Given the description of an element on the screen output the (x, y) to click on. 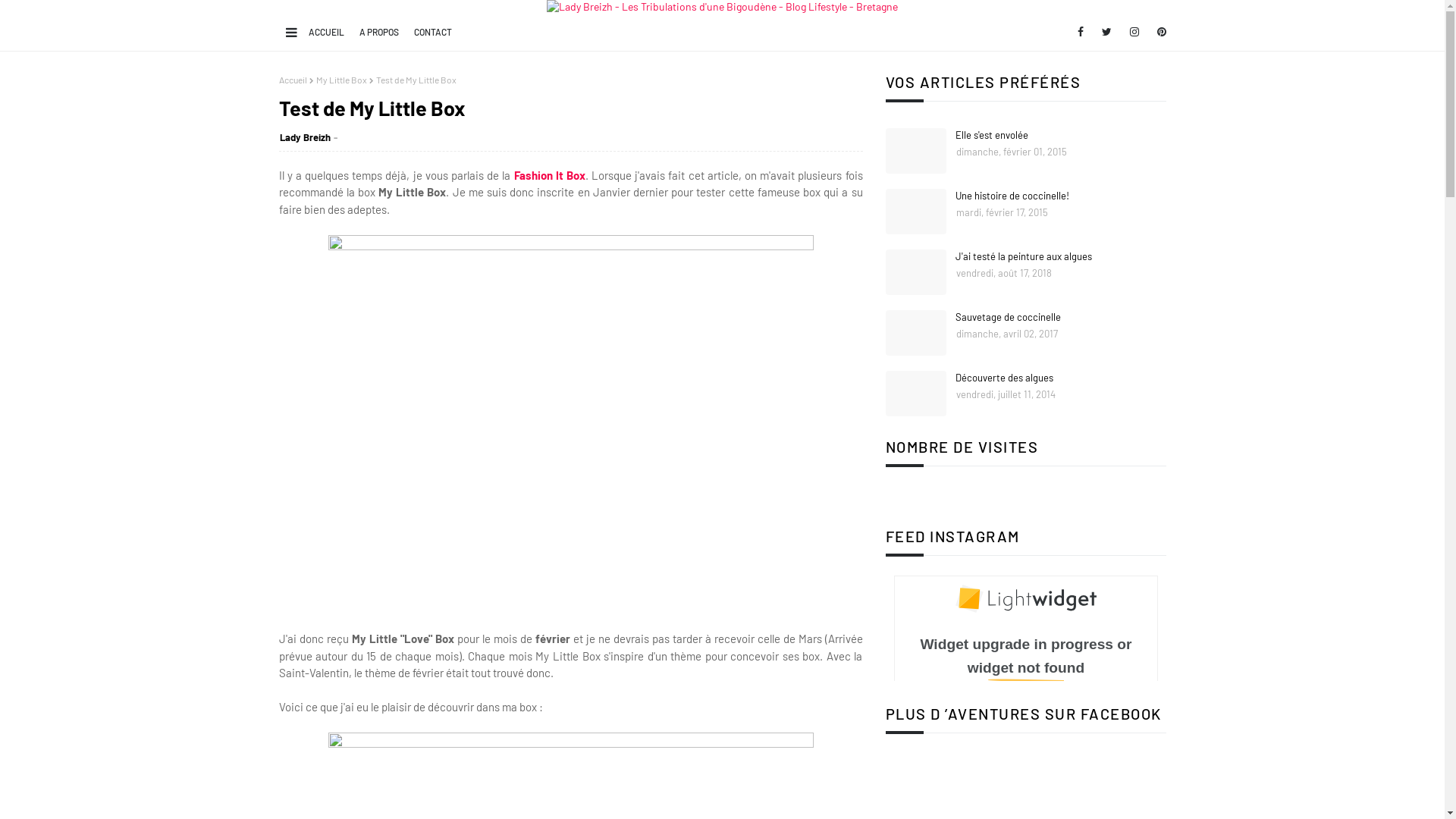
facebook Element type: hover (1080, 31)
Me contacter Element type: text (1138, 798)
Accueil Element type: text (1031, 798)
instagram Element type: hover (1133, 31)
My Little Box Element type: text (340, 79)
Fashion It Box Element type: text (549, 175)
Gooyaabi Element type: text (474, 798)
Accueil Element type: text (293, 79)
pinterest Element type: hover (1158, 31)
Sauvetage de coccinelle Element type: text (1060, 317)
twitter Element type: hover (1106, 31)
Lady Breizh Element type: text (304, 136)
Blogspot Element type: text (377, 798)
Une histoire de coccinelle! Element type: text (1060, 195)
A PROPOS Element type: text (377, 31)
CONTACT Element type: text (432, 31)
A propos Element type: text (1082, 798)
ACCUEIL Element type: text (326, 31)
